Given the description of an element on the screen output the (x, y) to click on. 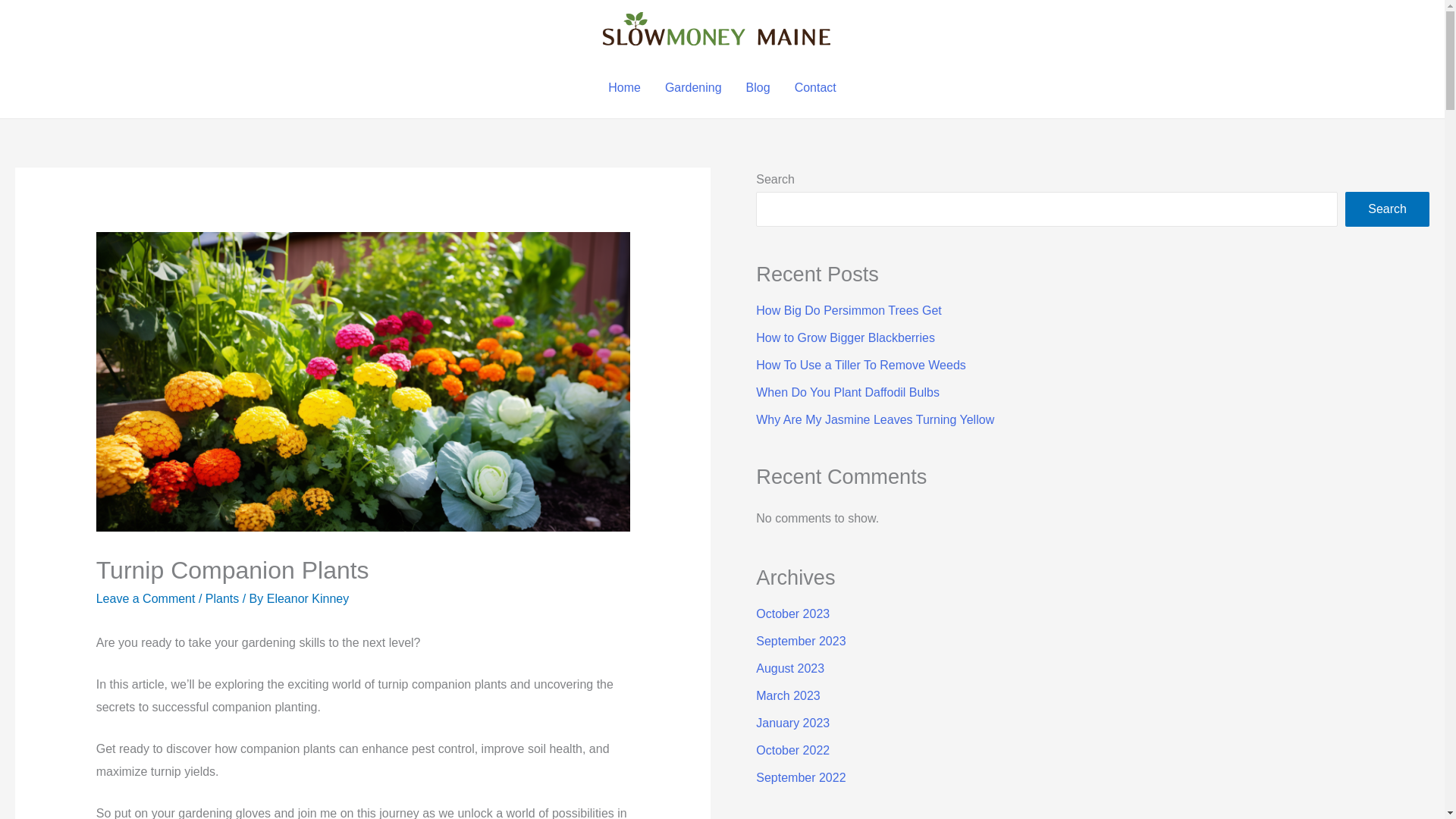
Search (1387, 208)
March 2023 (788, 695)
Why Are My Jasmine Leaves Turning Yellow (874, 419)
October 2022 (792, 749)
Eleanor Kinney (307, 598)
September 2023 (800, 640)
August 2023 (789, 667)
September 2022 (800, 777)
October 2023 (792, 613)
Contact (815, 87)
How Big Do Persimmon Trees Get (848, 309)
Gardening (692, 87)
View all posts by Eleanor Kinney (307, 598)
January 2023 (792, 722)
How To Use a Tiller To Remove Weeds (860, 364)
